Given the description of an element on the screen output the (x, y) to click on. 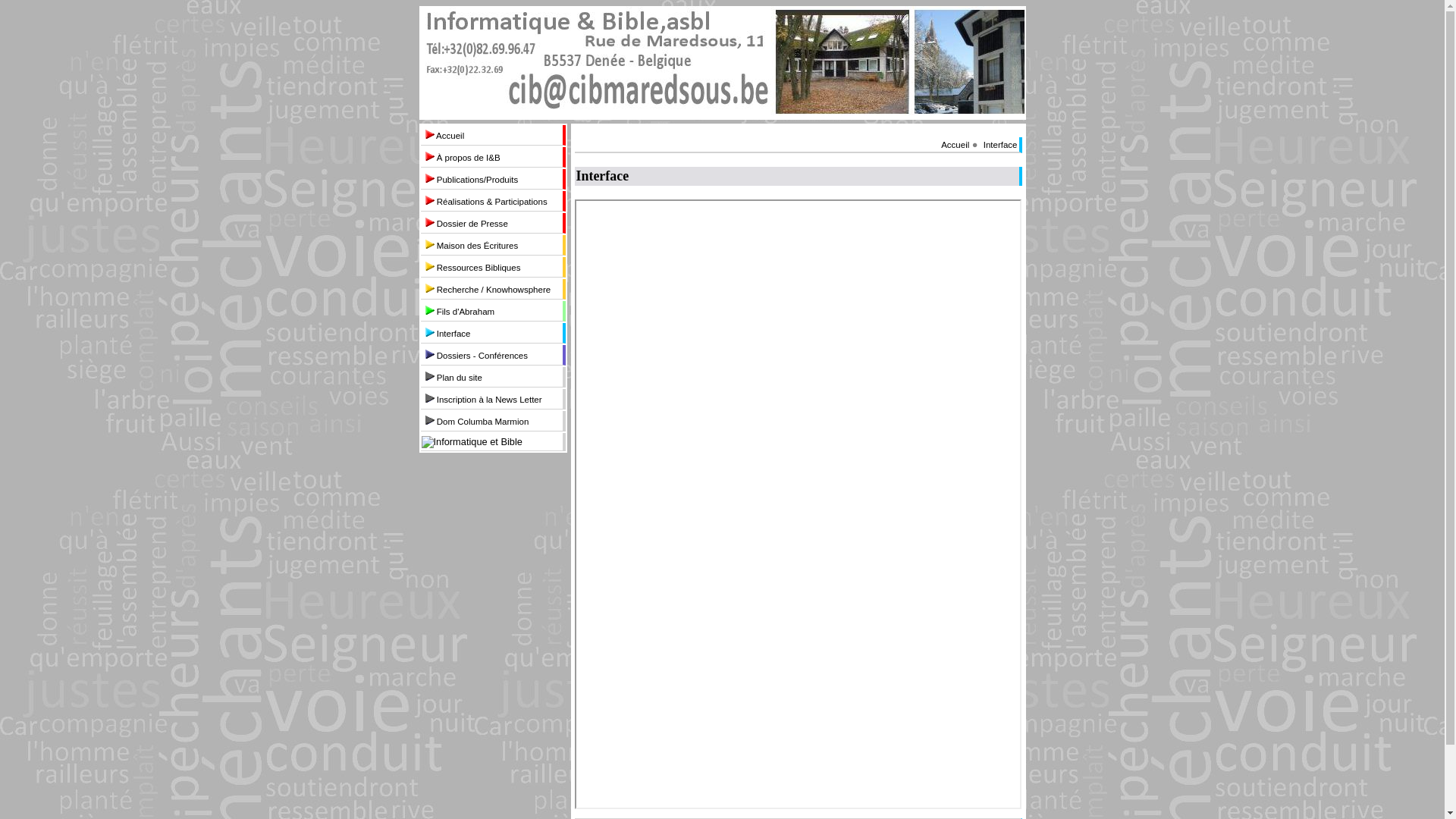
Fils d'Abraham Element type: text (491, 310)
Interface Element type: text (491, 332)
Accueil Element type: text (491, 134)
Publications/Produits Element type: text (491, 178)
Dossier de Presse Element type: text (491, 222)
Interface Element type: text (1000, 144)
Dom Columba Marmion Element type: text (491, 420)
Ressources Bibliques Element type: text (491, 266)
Accueil Element type: text (955, 144)
Recherche / Knowhowsphere Element type: text (491, 288)
Plan du site Element type: text (491, 376)
